Given the description of an element on the screen output the (x, y) to click on. 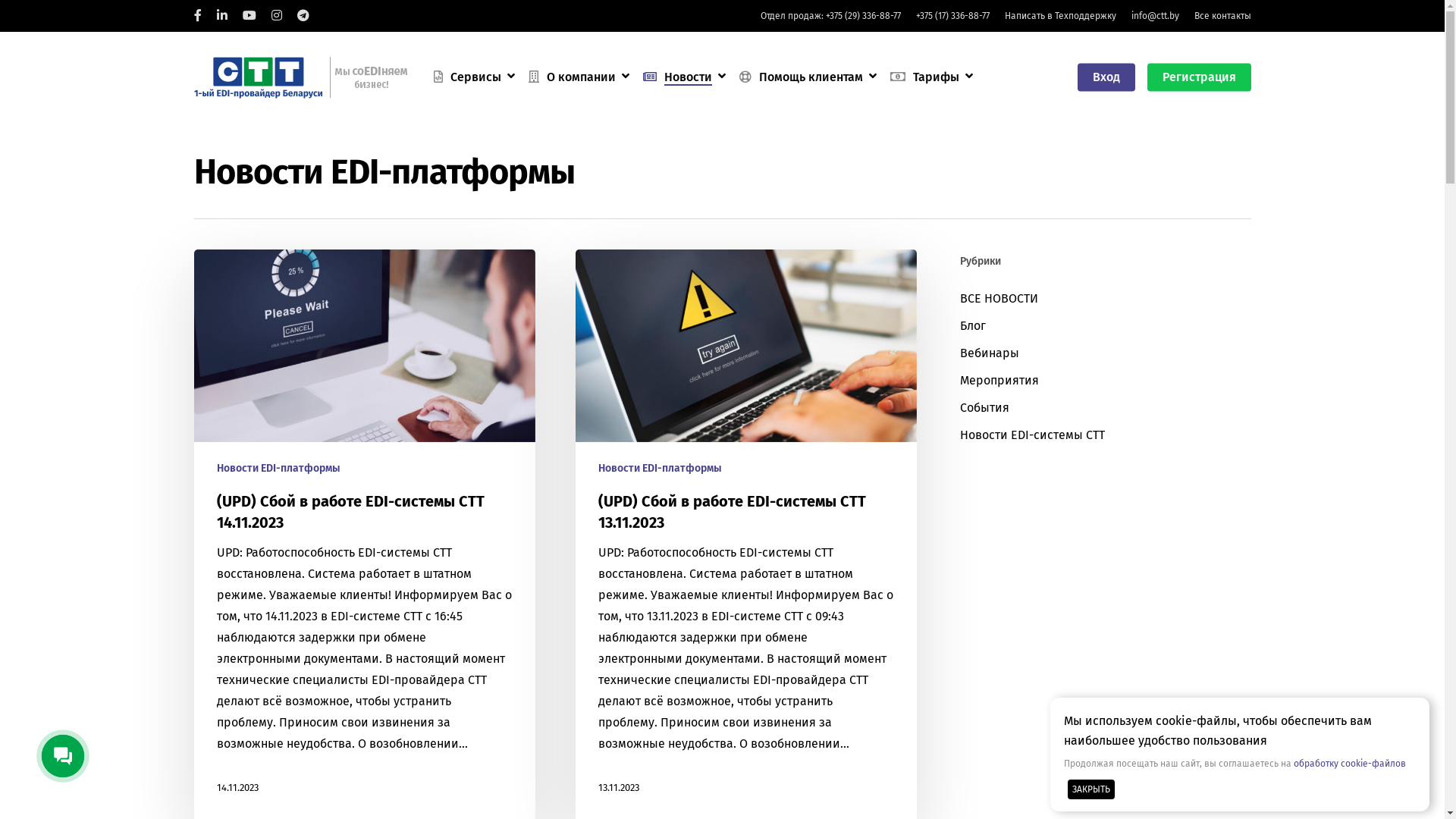
youtube Element type: text (249, 15)
facebook Element type: text (197, 15)
linkedin Element type: text (221, 15)
instagram Element type: text (276, 15)
info@ctt.by Element type: text (1155, 15)
+375 (17) 336-88-77 Element type: text (952, 15)
telegram Element type: text (303, 15)
